Given the description of an element on the screen output the (x, y) to click on. 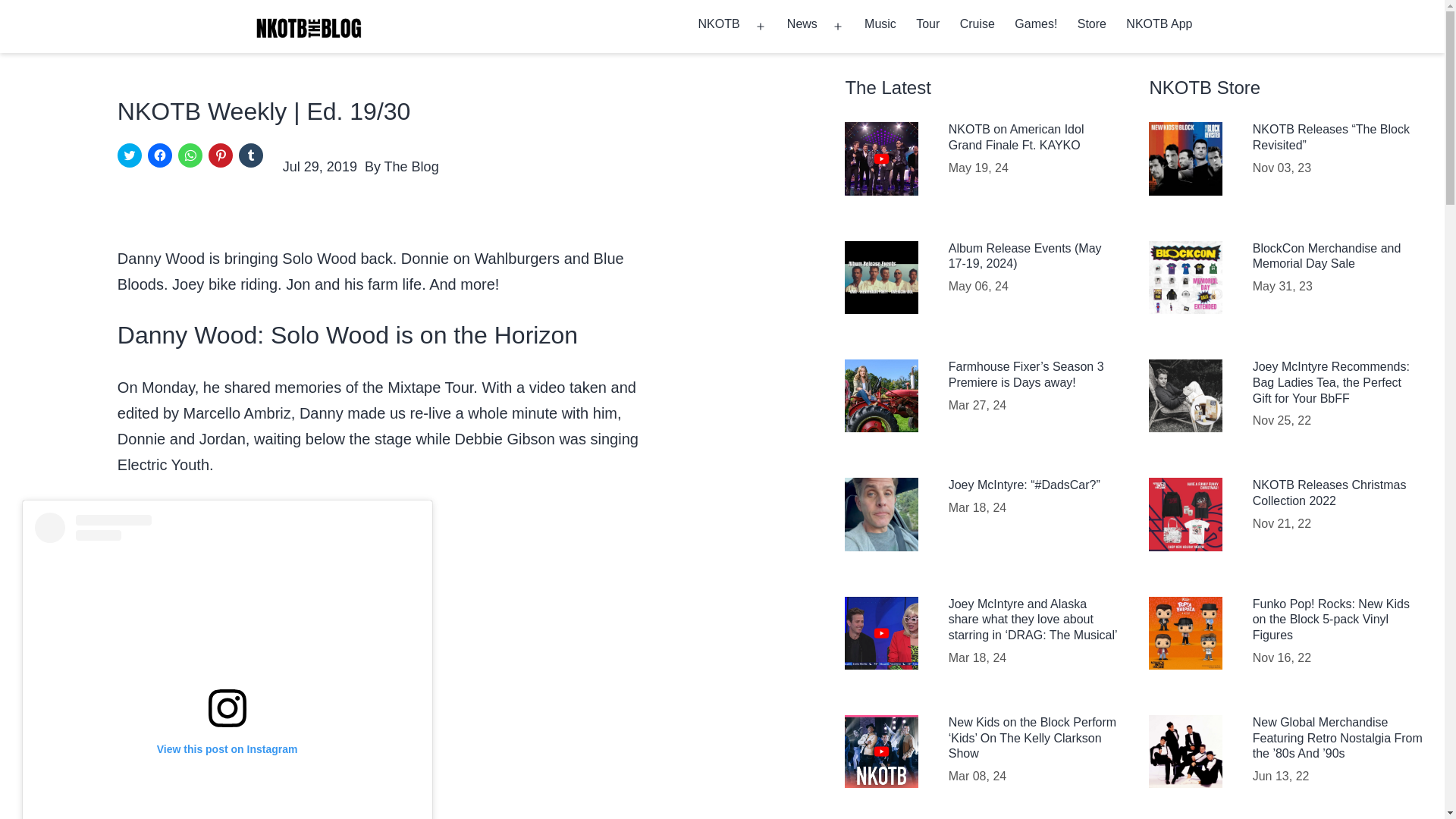
Tour (927, 26)
Cruise (978, 26)
Music (879, 26)
View this post on Instagram (227, 665)
Store (1091, 26)
NKOTB (718, 26)
Click to share on Facebook (159, 155)
NKOTB App (1159, 26)
Games! (1035, 26)
News (802, 26)
